Given the description of an element on the screen output the (x, y) to click on. 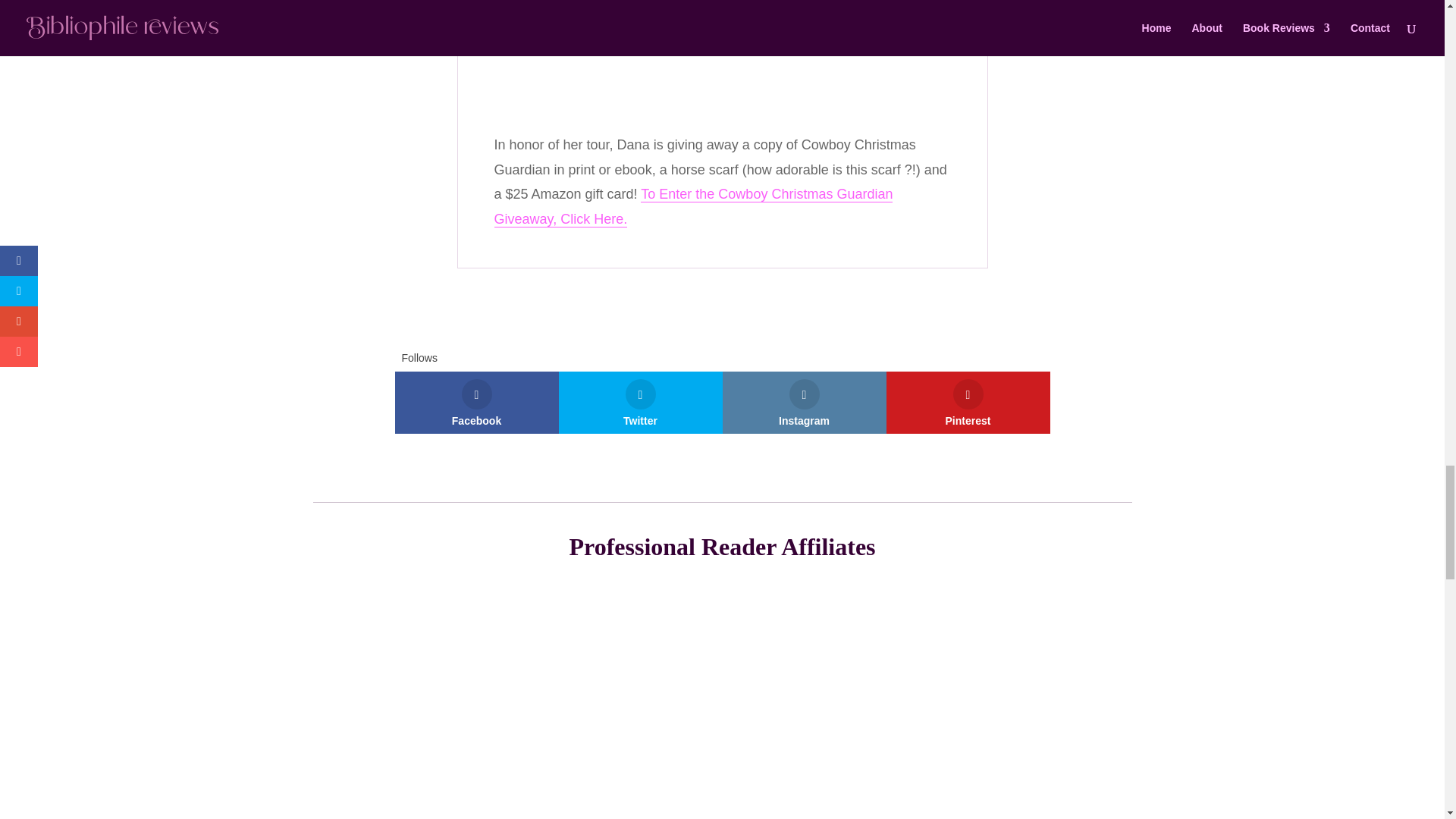
Twitter (639, 402)
2016 NetGalley Challenge (689, 784)
BethanyHouse Blogger Reviewer (919, 784)
Reviews Published (753, 784)
To Enter the Cowboy Christmas Guardian Giveaway, Click Here. (694, 206)
Instagram (803, 402)
Facebook (475, 402)
Pinterest (967, 402)
NetGalley Professional Reader (495, 784)
200 Book Reviews (624, 784)
Frequently Auto-Approved (560, 784)
Great Escape Tour Host (821, 784)
